Given the description of an element on the screen output the (x, y) to click on. 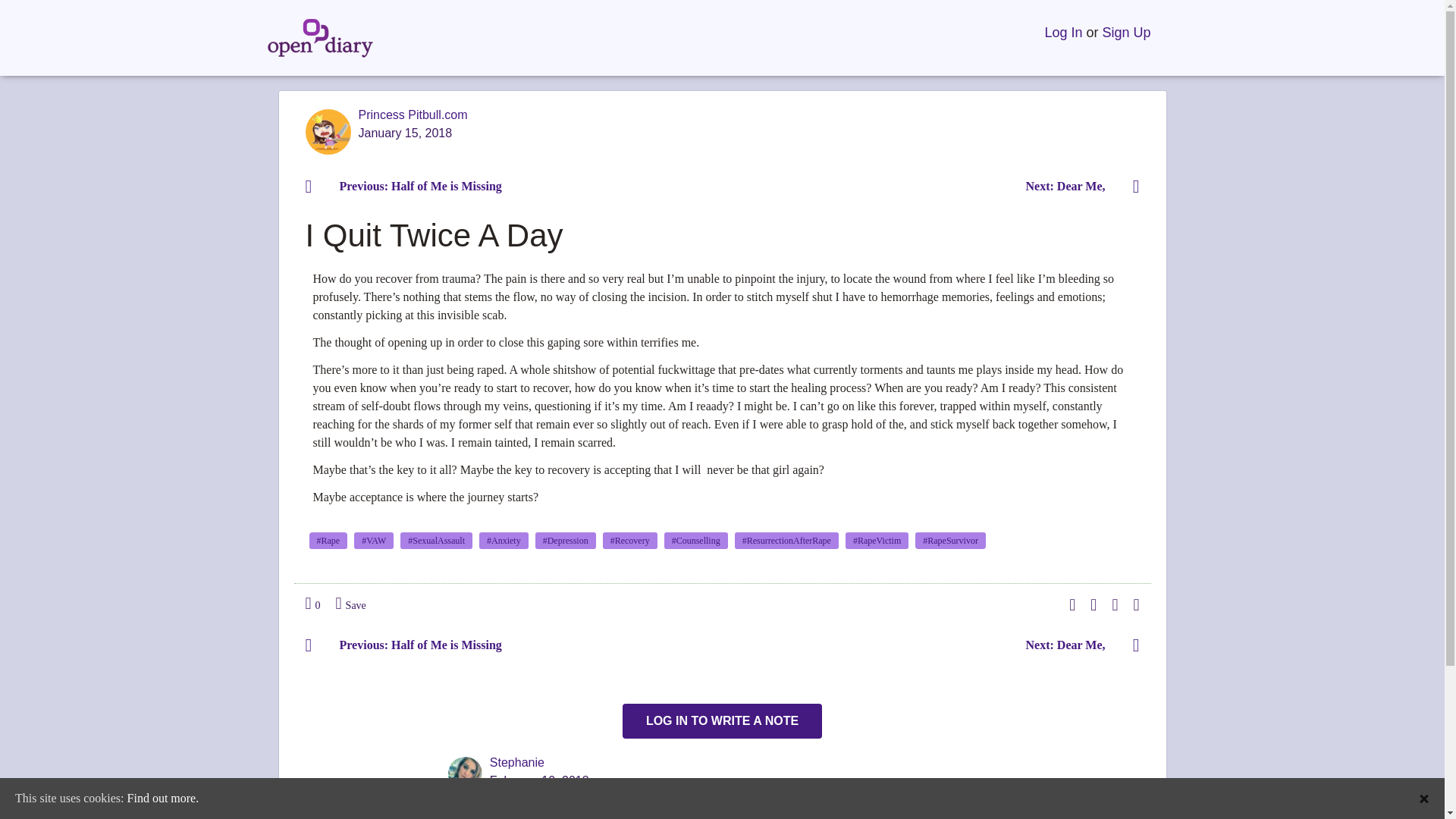
Stephanie (516, 762)
2018-01-15 01:33 pm (412, 133)
LOG IN TO WRITE A NOTE (722, 720)
Previous: Half of Me is Missing (409, 644)
Log In (1062, 32)
Previous: Half of Me is Missing (409, 185)
Princess Pitbull.com (412, 114)
Next: Dear Me, (1077, 185)
Next: Dear Me, (1077, 644)
